Given the description of an element on the screen output the (x, y) to click on. 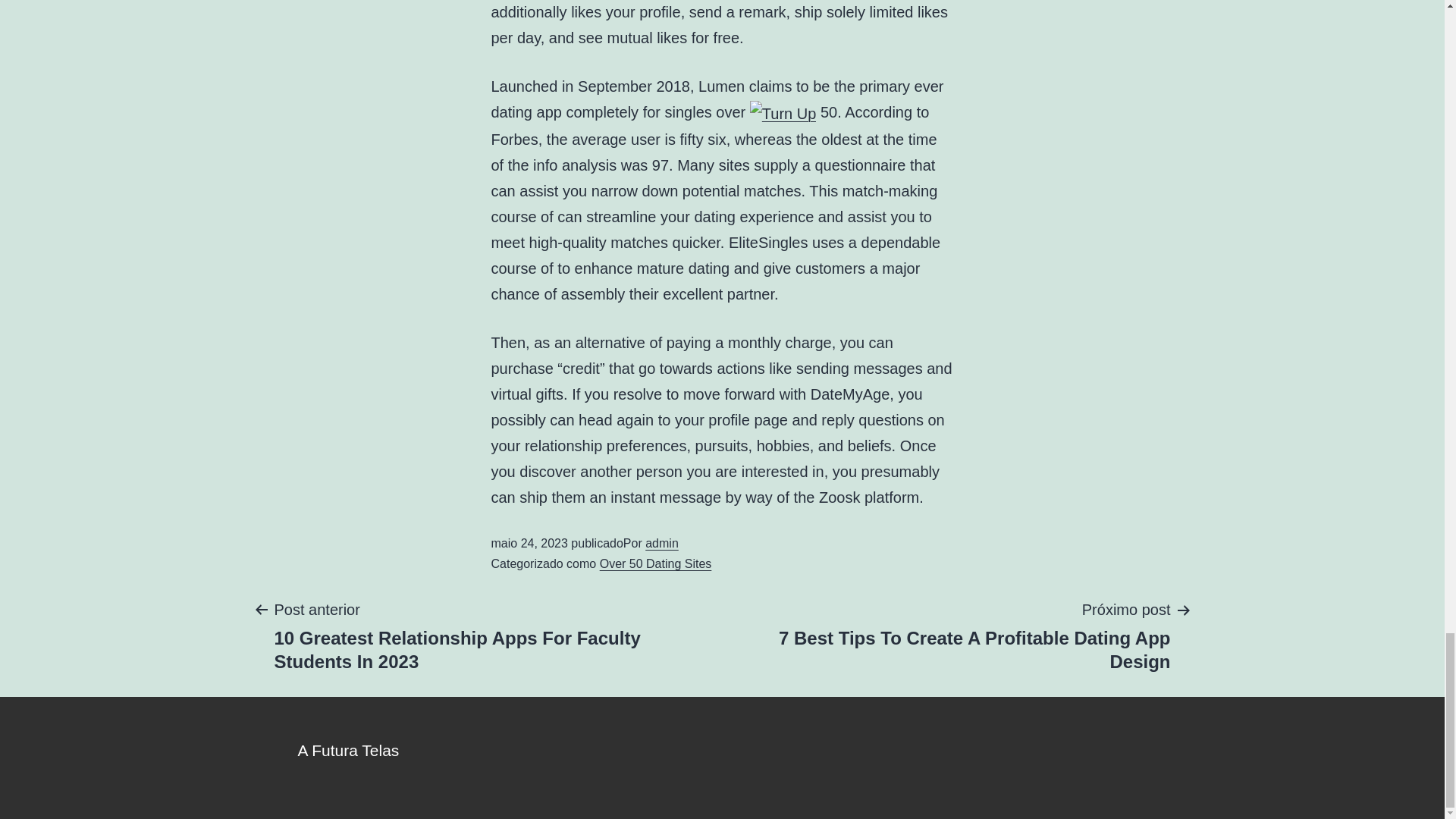
Over 50 Dating Sites (655, 563)
admin (661, 543)
